Given the description of an element on the screen output the (x, y) to click on. 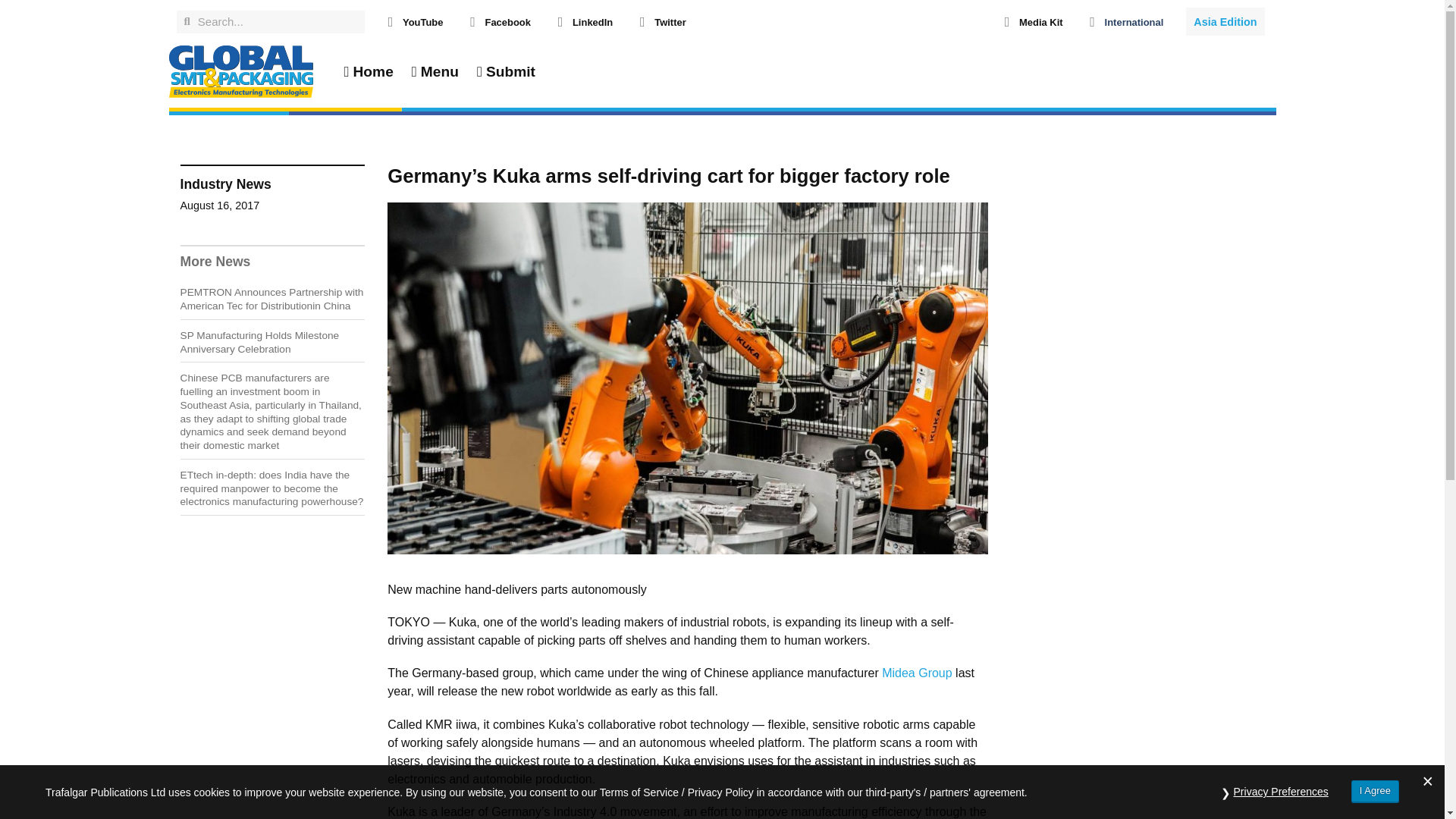
Industry News (225, 183)
SP Manufacturing Holds Milestone Anniversary Celebration (259, 342)
Menu (435, 71)
I Agree (1375, 791)
International (1134, 21)
LinkedIn (592, 21)
Facebook (506, 21)
Media Kit (1040, 21)
Privacy Preferences (1280, 791)
Midea Group (917, 672)
Twitter (669, 21)
